Given the description of an element on the screen output the (x, y) to click on. 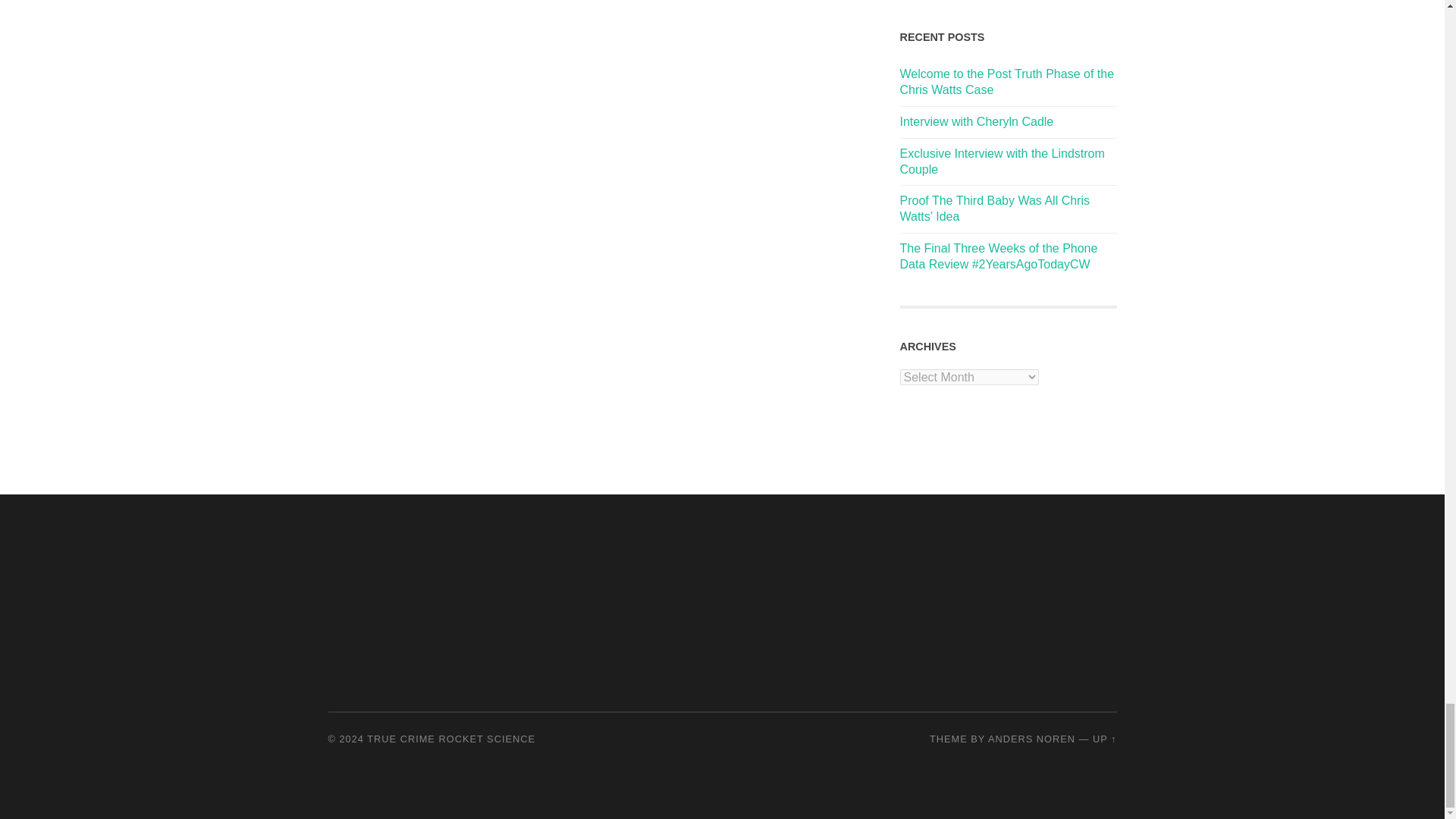
To the top (1104, 738)
